Given the description of an element on the screen output the (x, y) to click on. 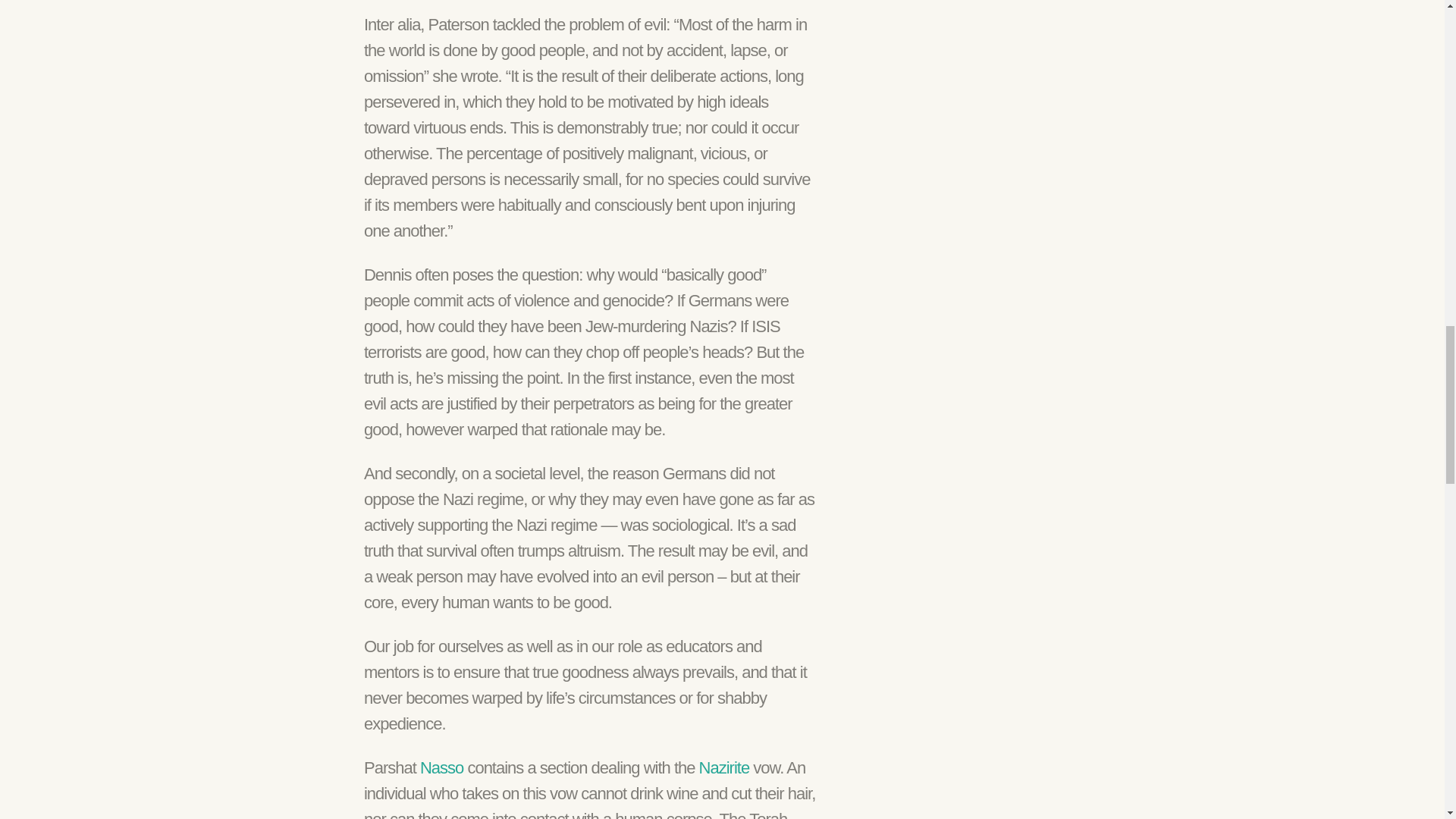
Nazirite (723, 767)
Nasso (441, 767)
